Given the description of an element on the screen output the (x, y) to click on. 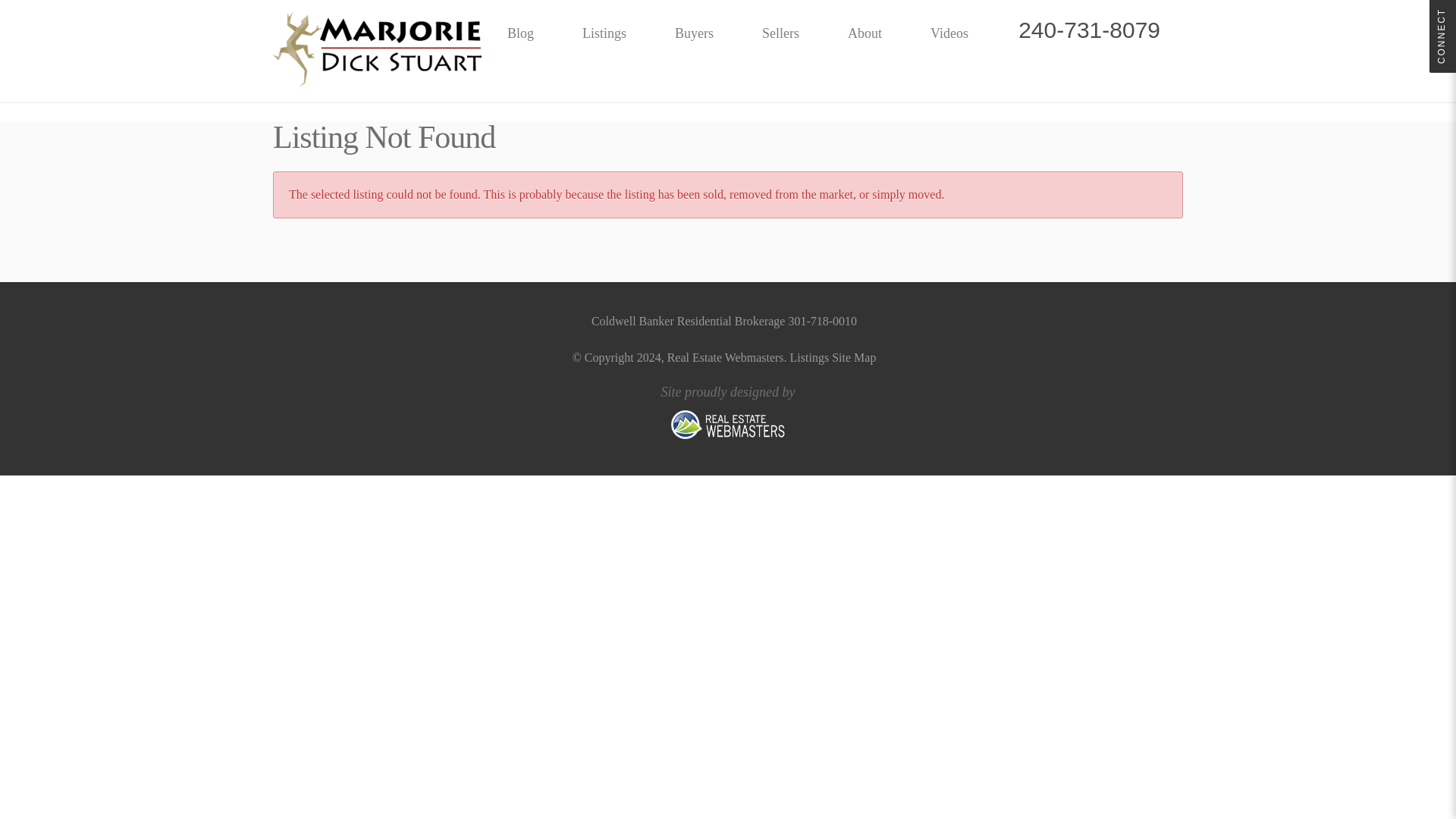
Sellers (780, 33)
Listings (604, 33)
Real Estate Webmasters (725, 357)
Buyers (693, 33)
Marjorie Dick Stuart (377, 51)
Blog (520, 33)
Listings Site Map (833, 357)
Videos (949, 33)
About (864, 33)
